Given the description of an element on the screen output the (x, y) to click on. 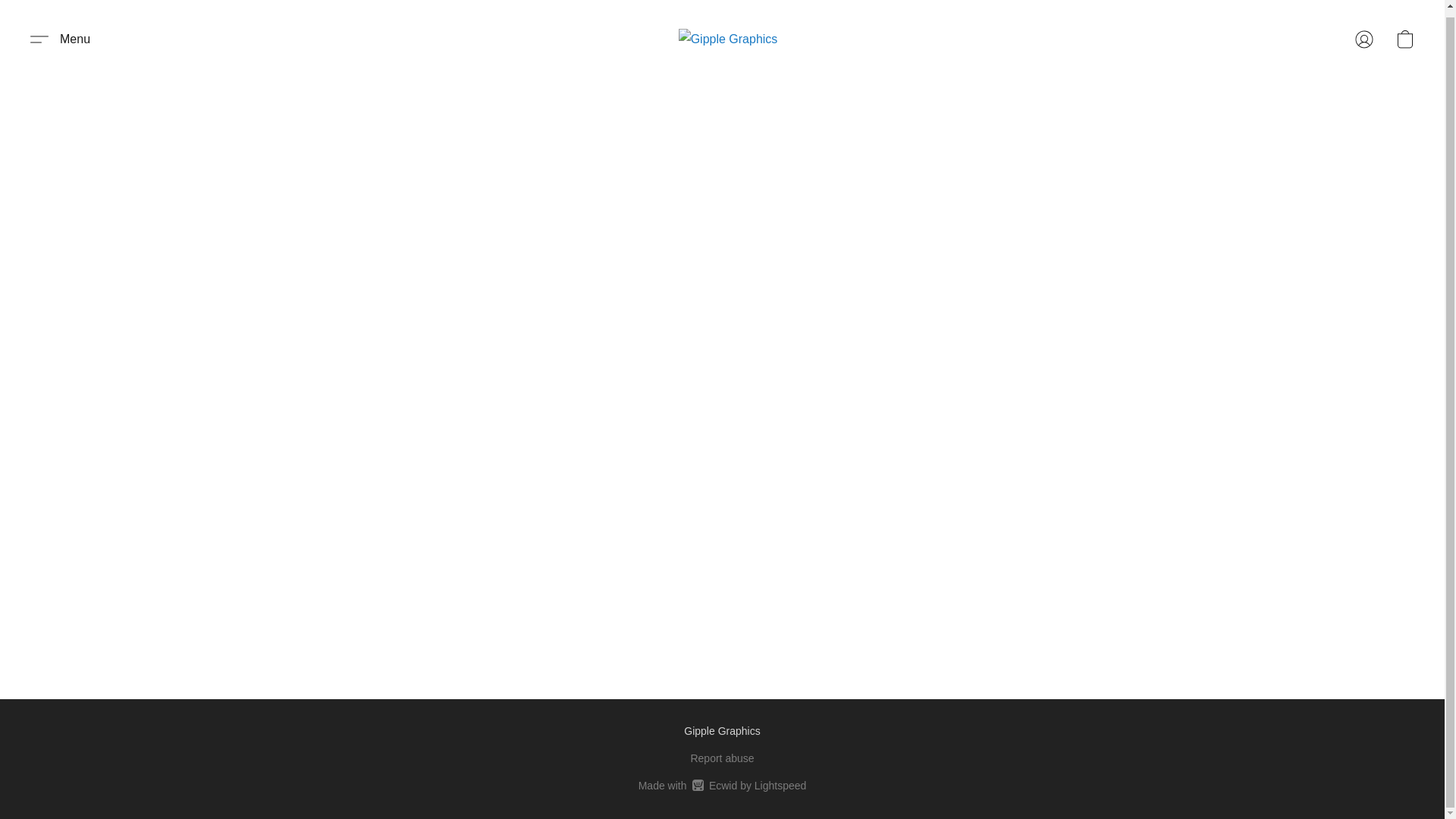
Go to your shopping cart (722, 785)
Report abuse (1404, 39)
Menu (722, 758)
